Given the description of an element on the screen output the (x, y) to click on. 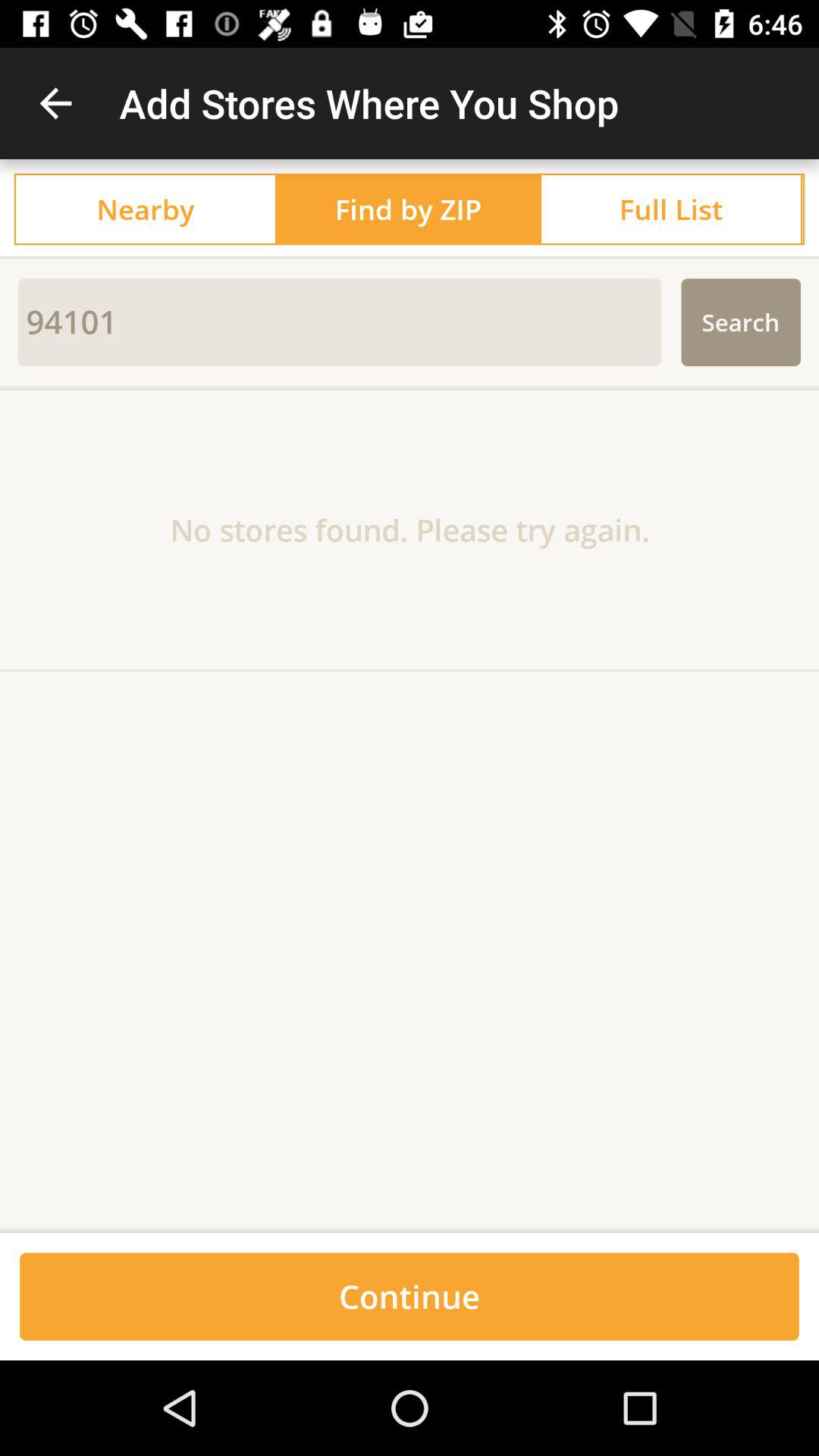
jump until the no stores found (409, 529)
